Given the description of an element on the screen output the (x, y) to click on. 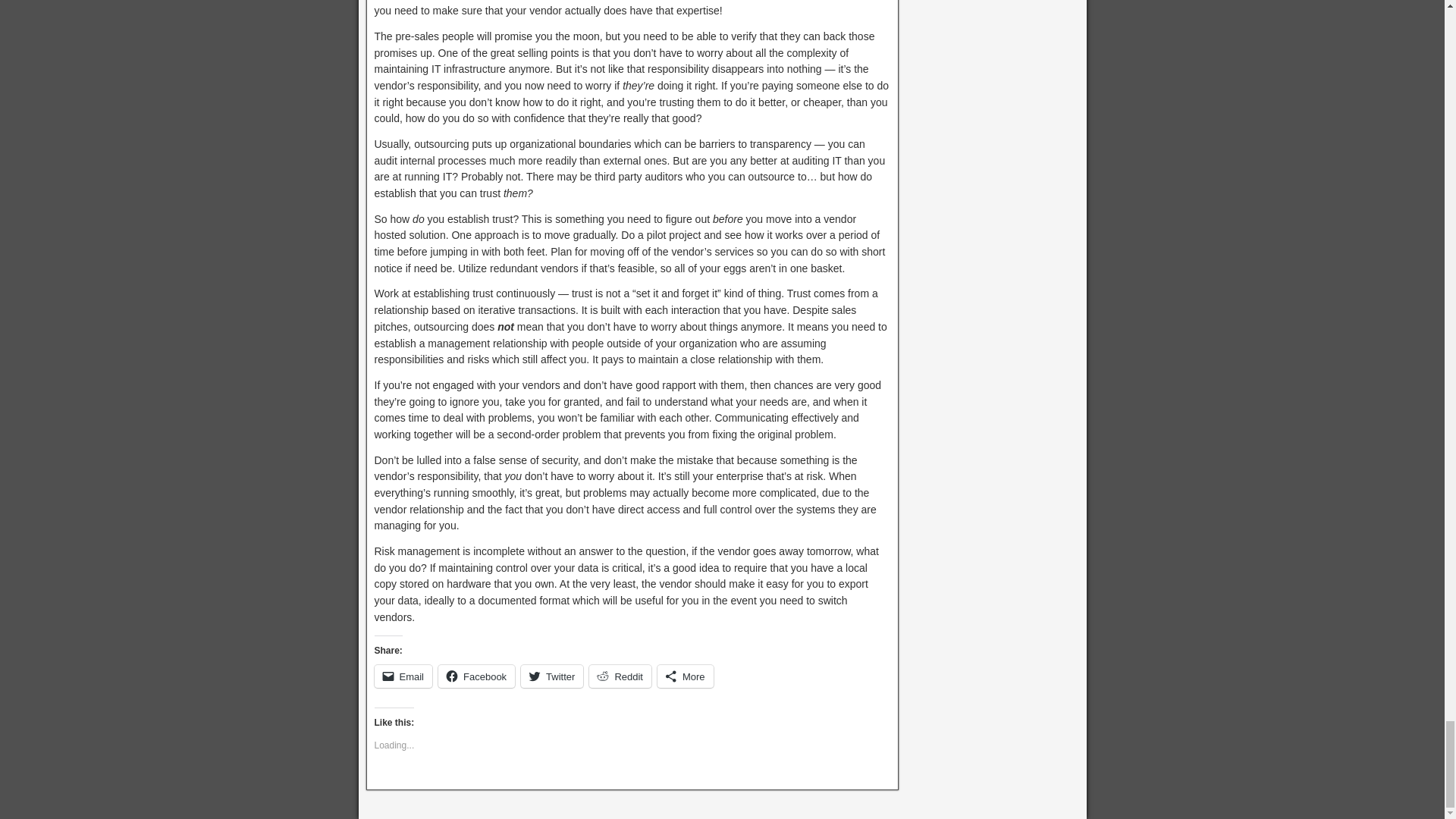
Click to email a link to a friend (403, 676)
